Given the description of an element on the screen output the (x, y) to click on. 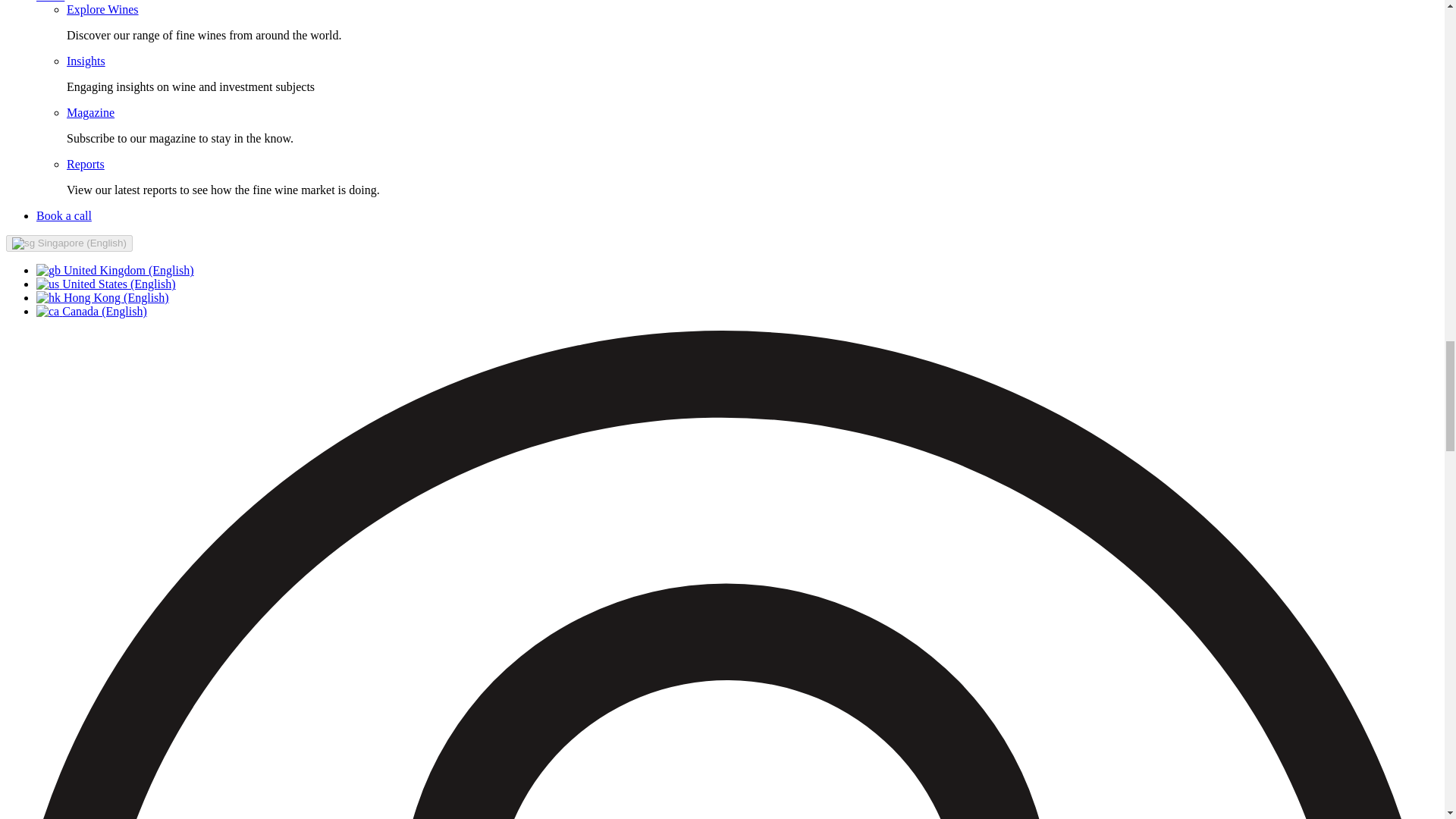
Reports (85, 164)
Book a call (63, 215)
Insights (85, 60)
Magazine (90, 112)
Explore Wines (102, 9)
Learn (50, 1)
